Given the description of an element on the screen output the (x, y) to click on. 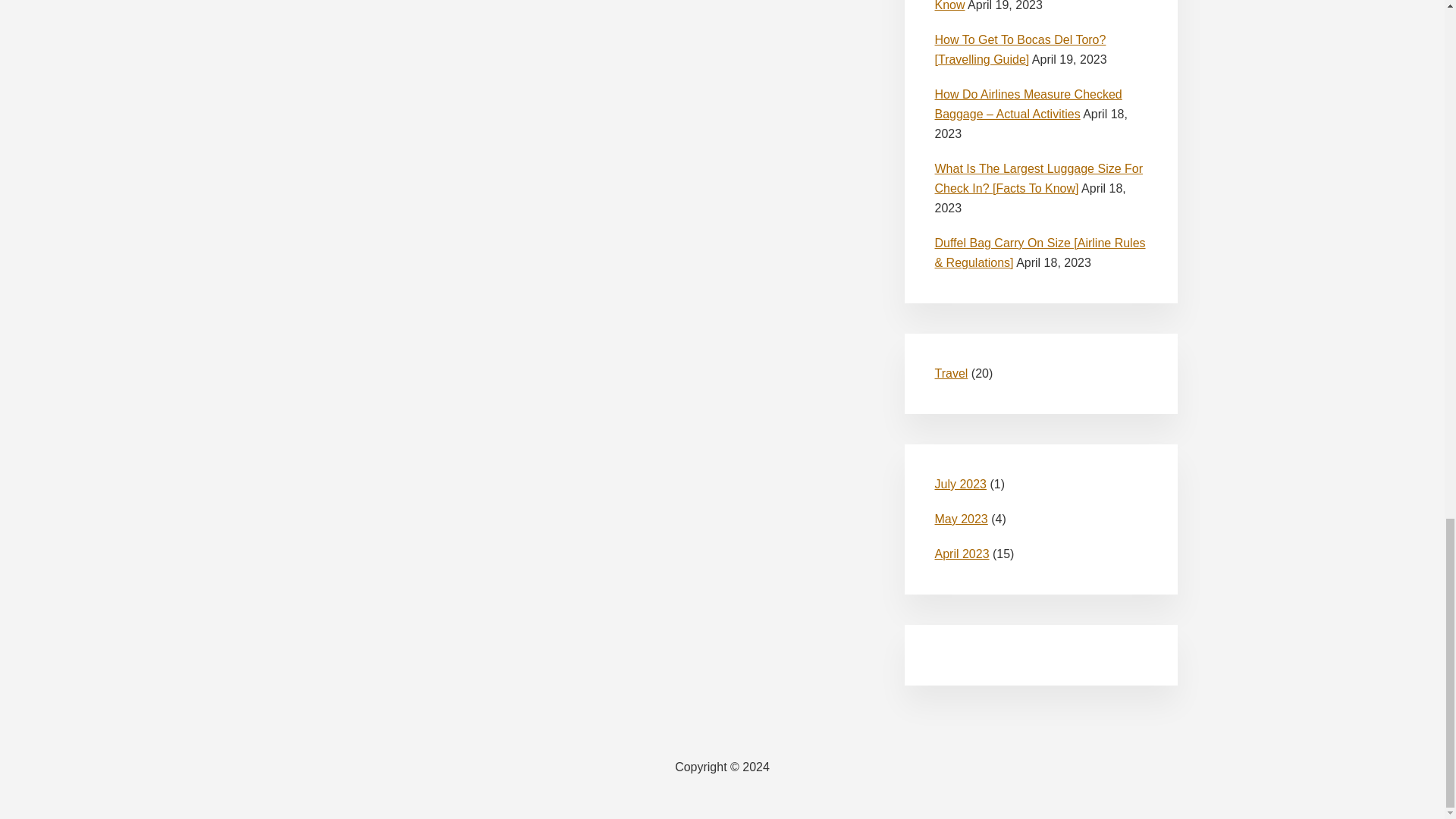
May 2023 (960, 518)
April 2023 (961, 553)
July 2023 (960, 483)
Travel (951, 373)
